Given the description of an element on the screen output the (x, y) to click on. 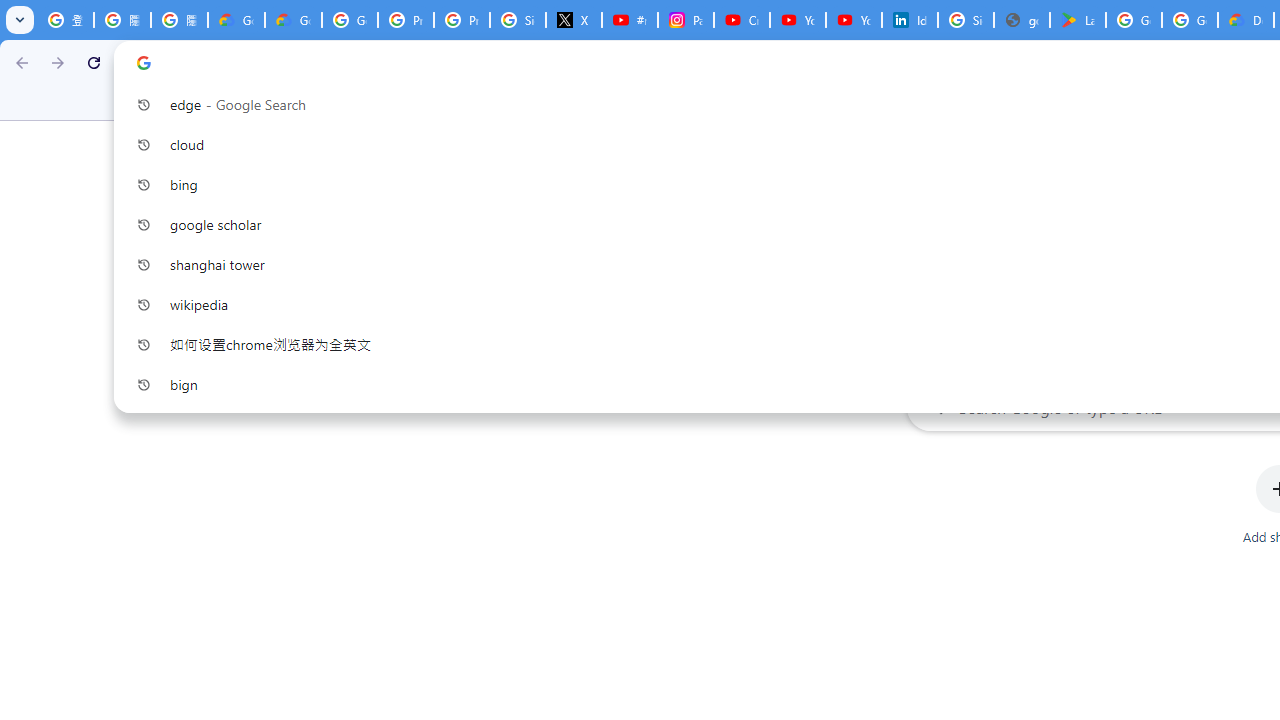
YouTube Culture & Trends - YouTube Top 10, 2021 (853, 20)
Google Cloud Privacy Notice (235, 20)
Google Cloud Privacy Notice (293, 20)
#nbabasketballhighlights - YouTube (629, 20)
Google Workspace - Specific Terms (1190, 20)
